Given the description of an element on the screen output the (x, y) to click on. 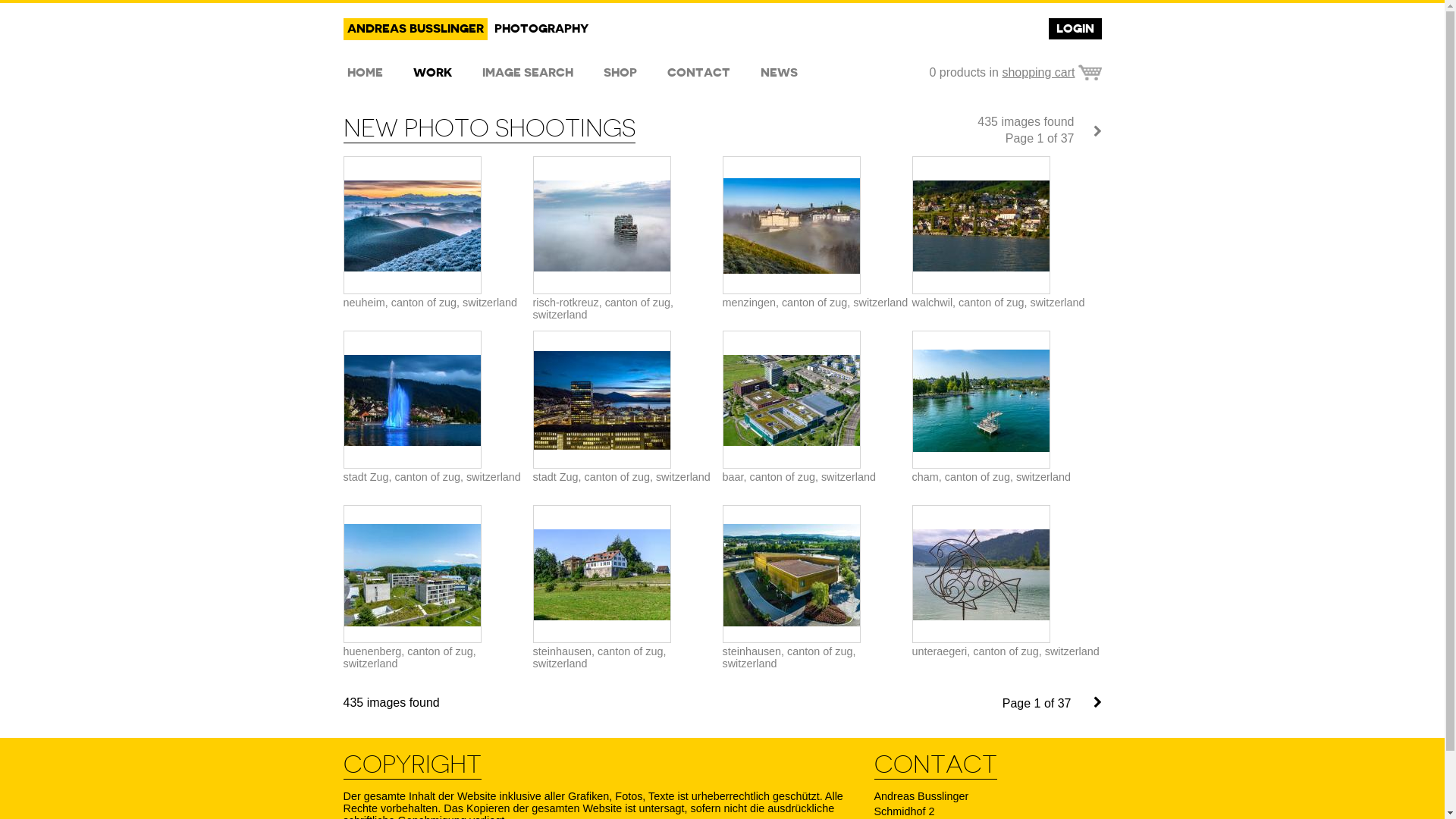
NEWS Element type: text (778, 72)
SHOP Element type: text (619, 72)
IMAGE SEARCH Element type: text (526, 72)
shopping cart Element type: text (1051, 72)
WORK Element type: text (432, 72)
CONTACT Element type: text (697, 72)
LOGIN Element type: text (1074, 28)
HOME Element type: text (363, 72)
